Given the description of an element on the screen output the (x, y) to click on. 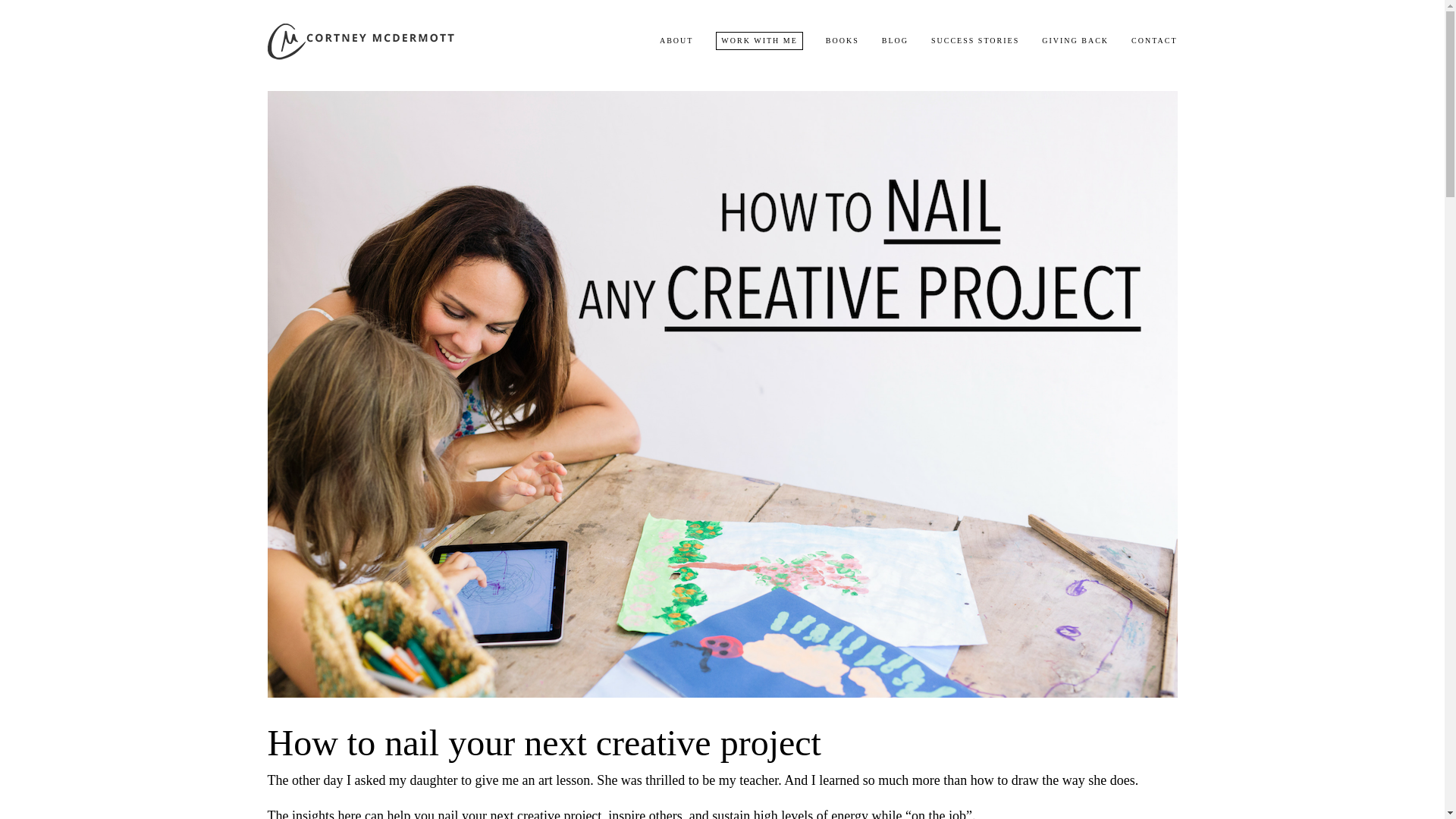
SUCCESS STORIES (975, 39)
WORK WITH ME (759, 39)
